Given the description of an element on the screen output the (x, y) to click on. 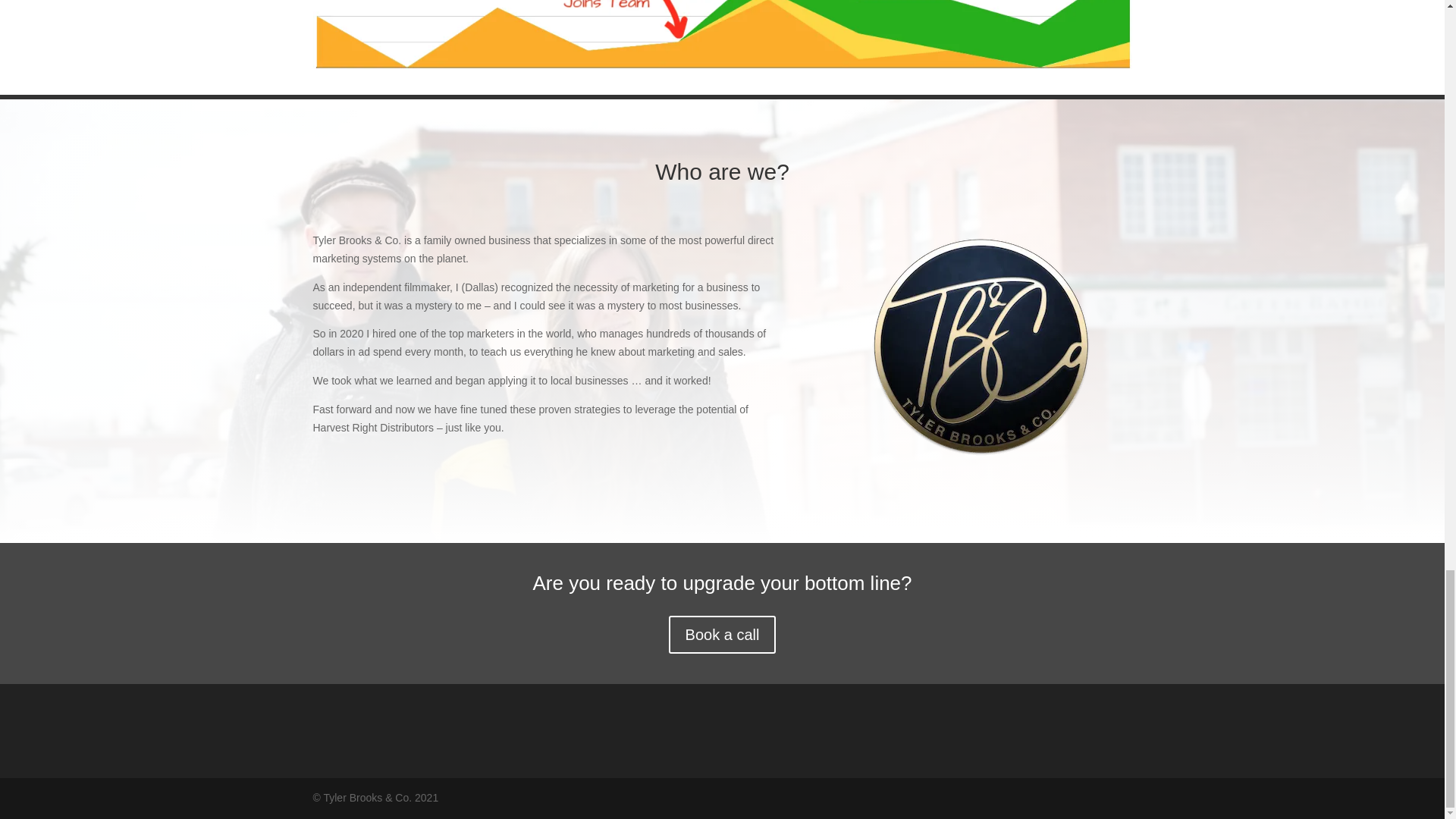
Screen Shot 2023-03-27 at 2.57.26 PM (722, 34)
Book a call (722, 634)
Photo Logo Monograph Glod Cool (980, 345)
